Given the description of an element on the screen output the (x, y) to click on. 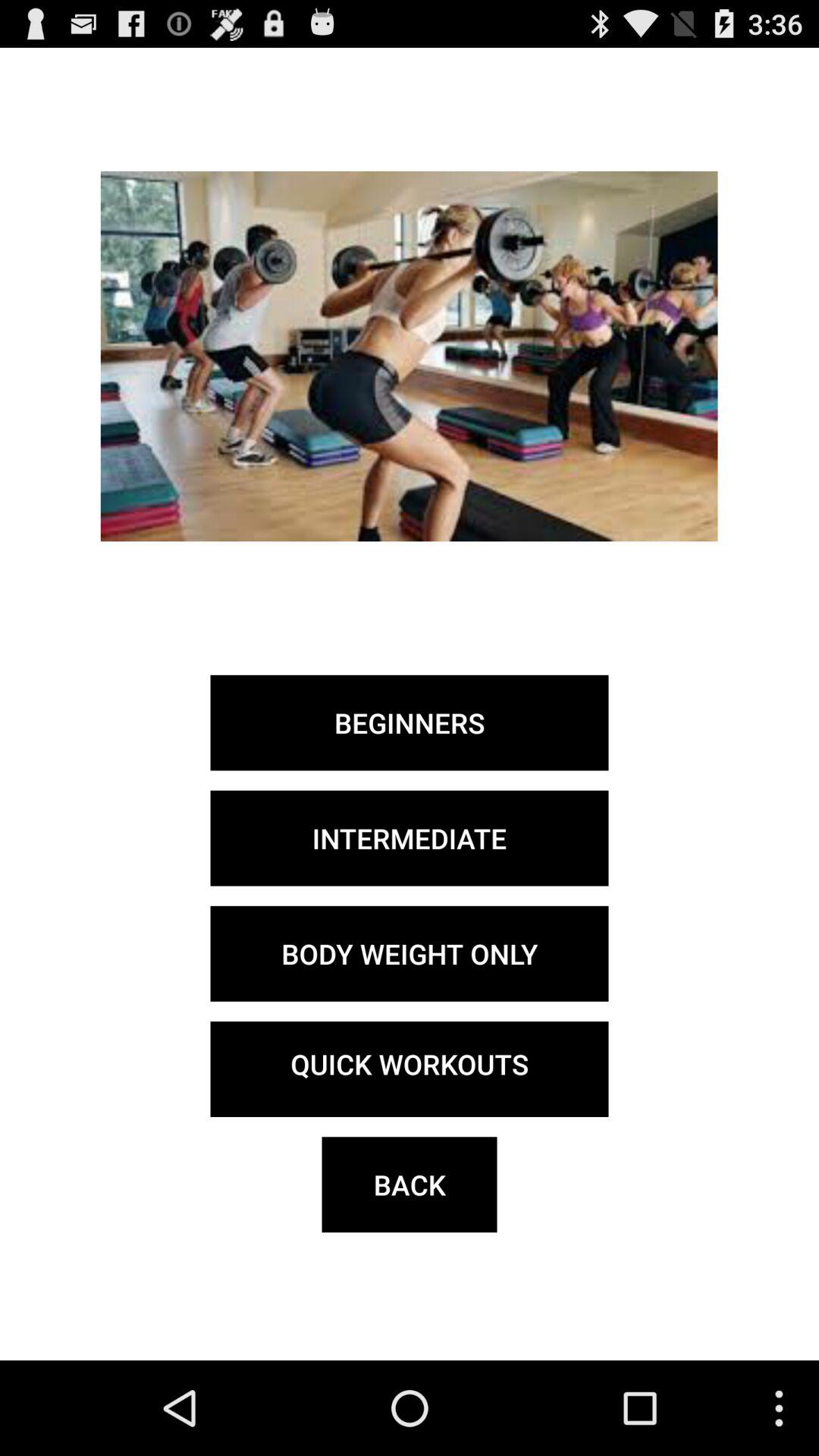
tap back (409, 1184)
